Given the description of an element on the screen output the (x, y) to click on. 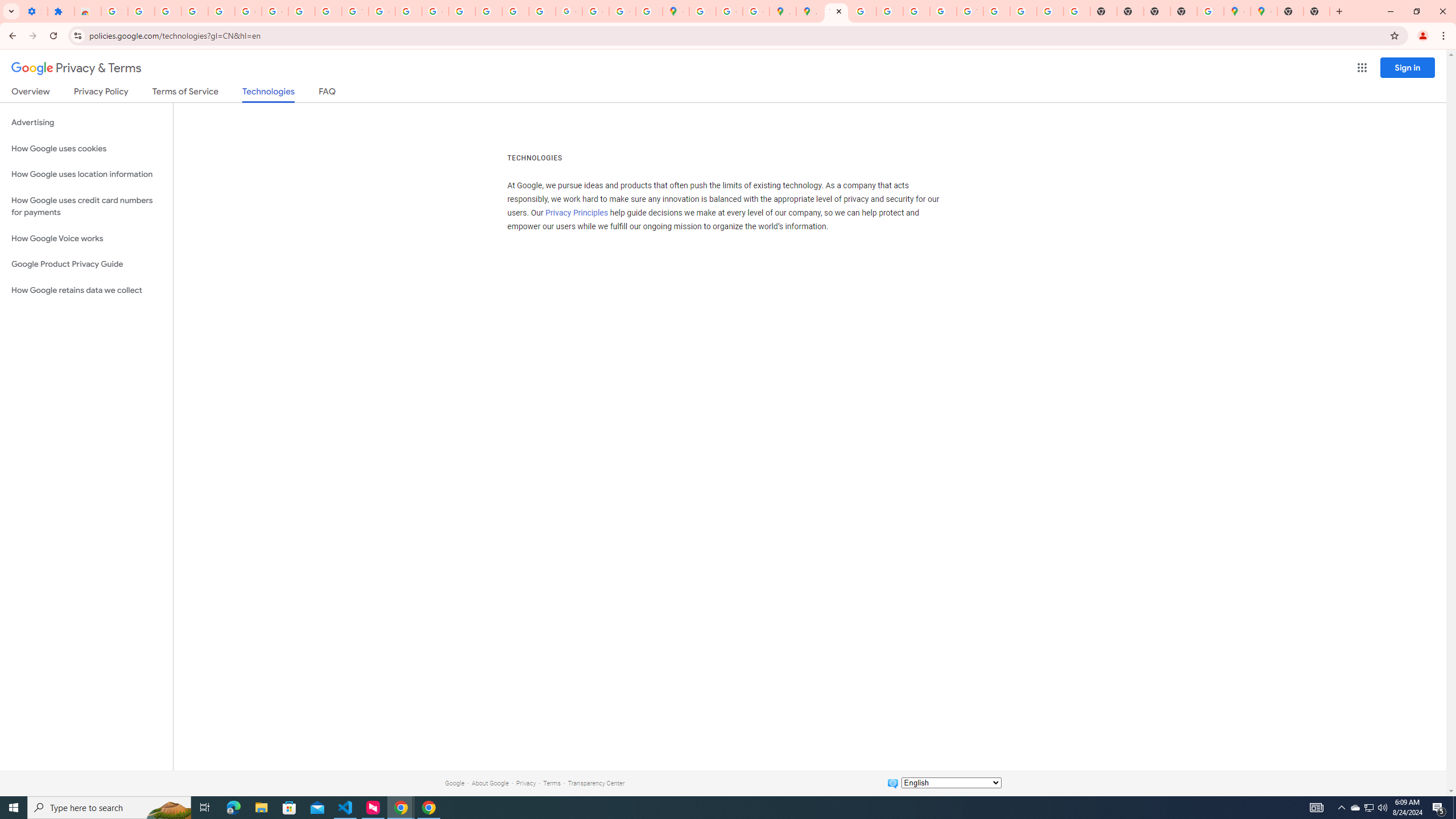
How Google Voice works (86, 238)
How Google uses cookies (86, 148)
Browse Chrome as a guest - Computer - Google Chrome Help (996, 11)
Learn how to find your photos - Google Photos Help (167, 11)
Sign in - Google Accounts (114, 11)
Google Product Privacy Guide (86, 264)
Chrome (1445, 35)
Address and search bar (735, 35)
About Google (490, 783)
Delete photos & videos - Computer - Google Photos Help (141, 11)
Privacy Principles (577, 213)
